Given the description of an element on the screen output the (x, y) to click on. 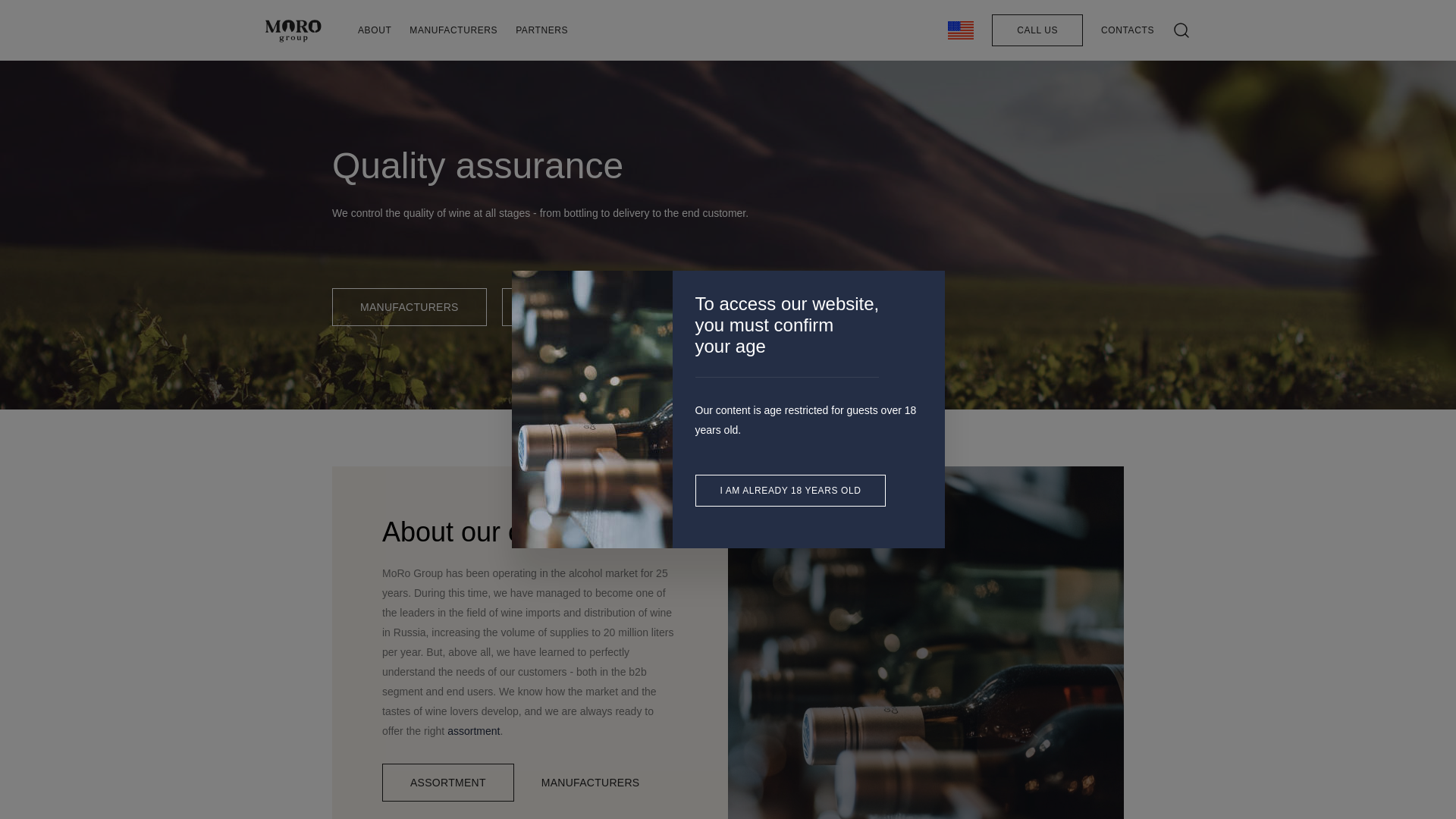
Search (1000, 91)
MANUFACTURERS (453, 30)
ABOUT (374, 30)
PARTNERS (541, 30)
ASSORTMENT (567, 306)
MANUFACTURERS (590, 782)
ASSORTMENT (447, 782)
CONTACTS (1127, 30)
MANUFACTURERS (408, 306)
assortment (472, 730)
